Given the description of an element on the screen output the (x, y) to click on. 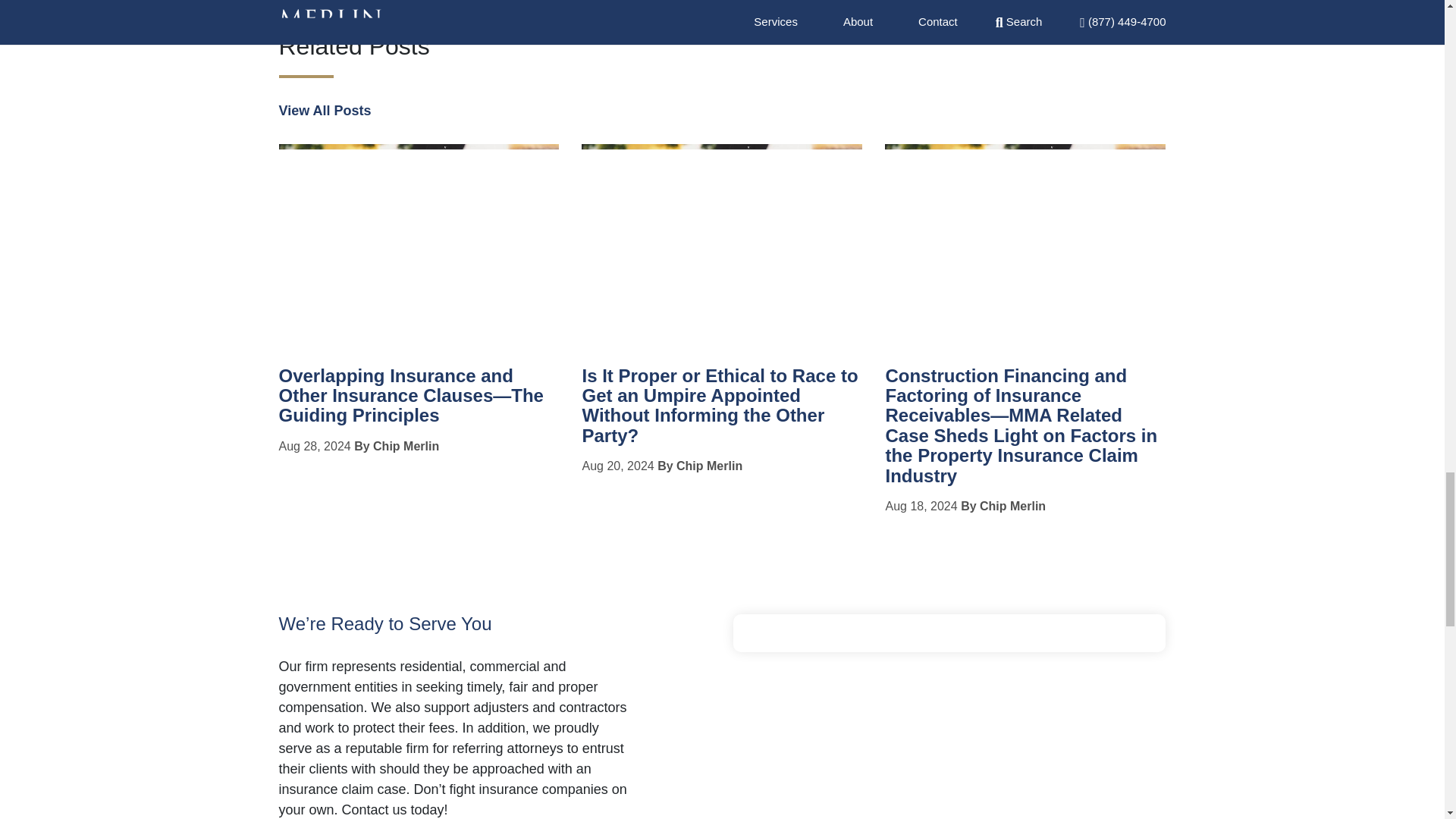
By Chip Merlin (396, 445)
By Chip Merlin (700, 465)
View All Posts (325, 110)
